Given the description of an element on the screen output the (x, y) to click on. 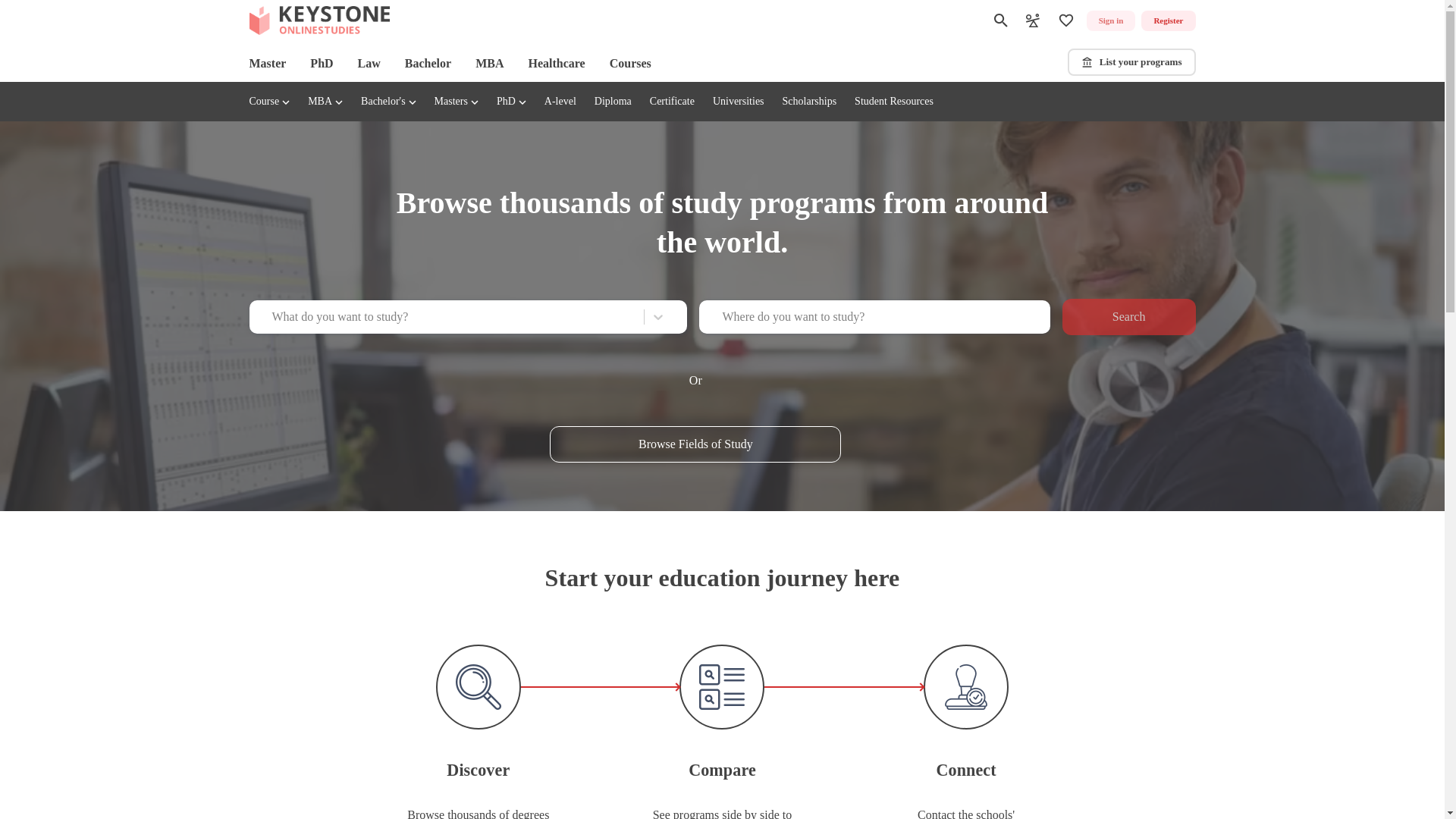
Courses (630, 63)
List your programs (1131, 62)
Search (1128, 316)
Universities (738, 101)
Diploma (612, 101)
Student Resources (893, 101)
Certificate (671, 101)
Sign in (1110, 20)
Browse Fields of Study (695, 443)
Scholarships (810, 101)
Register (1168, 20)
Healthcare (556, 63)
Bachelor (427, 63)
A-level (560, 101)
